Given the description of an element on the screen output the (x, y) to click on. 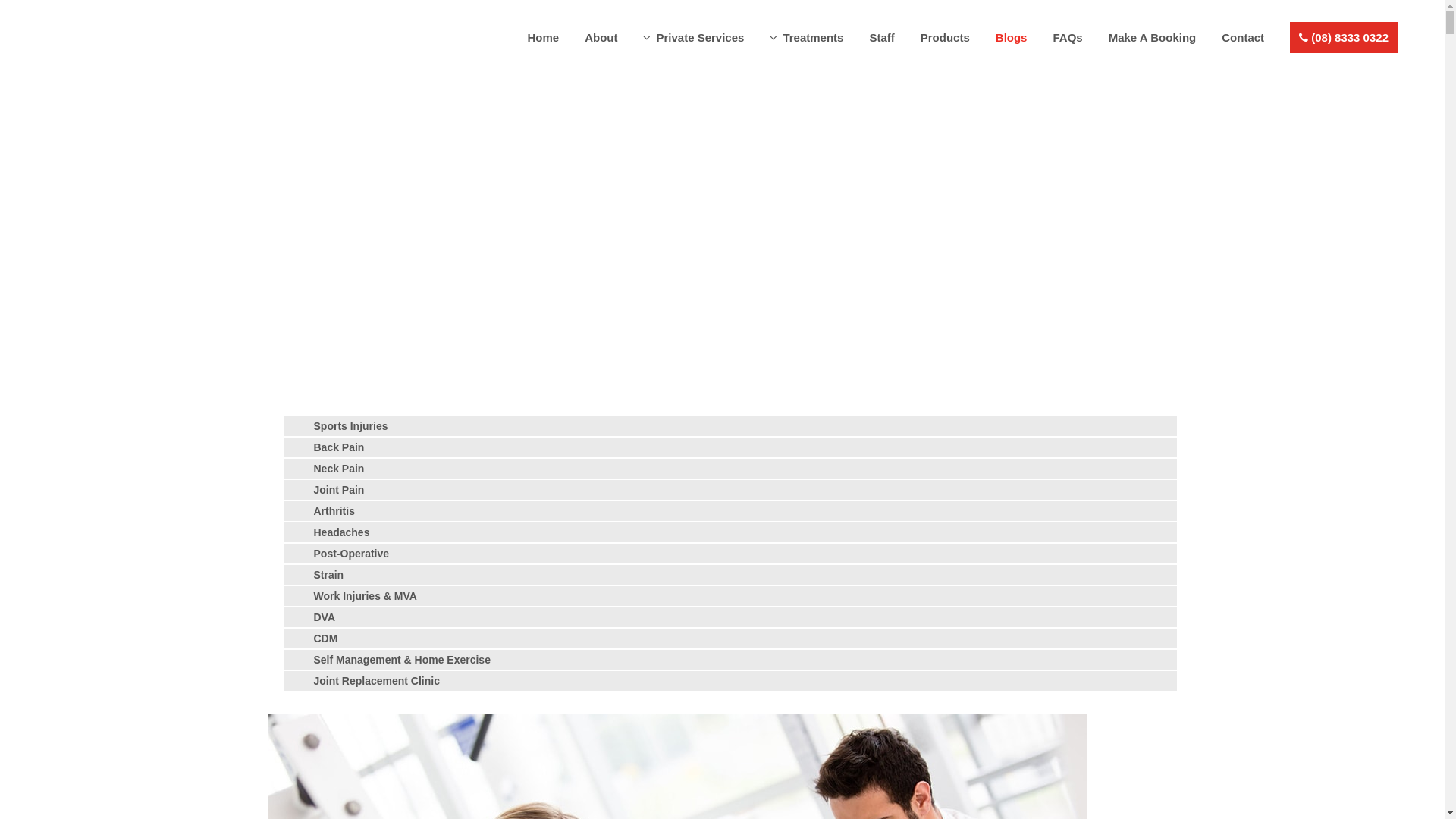
Back Pain Element type: text (339, 447)
Home Element type: text (542, 37)
Post-Operative Element type: text (351, 553)
Staff Element type: text (881, 37)
Make A Booking Element type: text (1152, 37)
Blogs Element type: text (1011, 37)
Strain Element type: text (328, 574)
Neck Pain Element type: text (339, 468)
Private Services Element type: text (693, 37)
DVA Element type: text (324, 617)
CDM Element type: text (325, 638)
(08) 8333 0322 Element type: text (1343, 37)
About Element type: text (600, 37)
Work Injuries & MVA Element type: text (365, 595)
Arthritis Element type: text (334, 510)
Sports Injuries Element type: text (350, 425)
Contact Element type: text (1242, 37)
Joint Pain Element type: text (339, 489)
Treatments Element type: text (806, 37)
Products Element type: text (944, 37)
Joint Replacement Clinic Element type: text (376, 680)
FAQs Element type: text (1067, 37)
Headaches Element type: text (341, 532)
Self Management & Home Exercise Element type: text (401, 659)
